Given the description of an element on the screen output the (x, y) to click on. 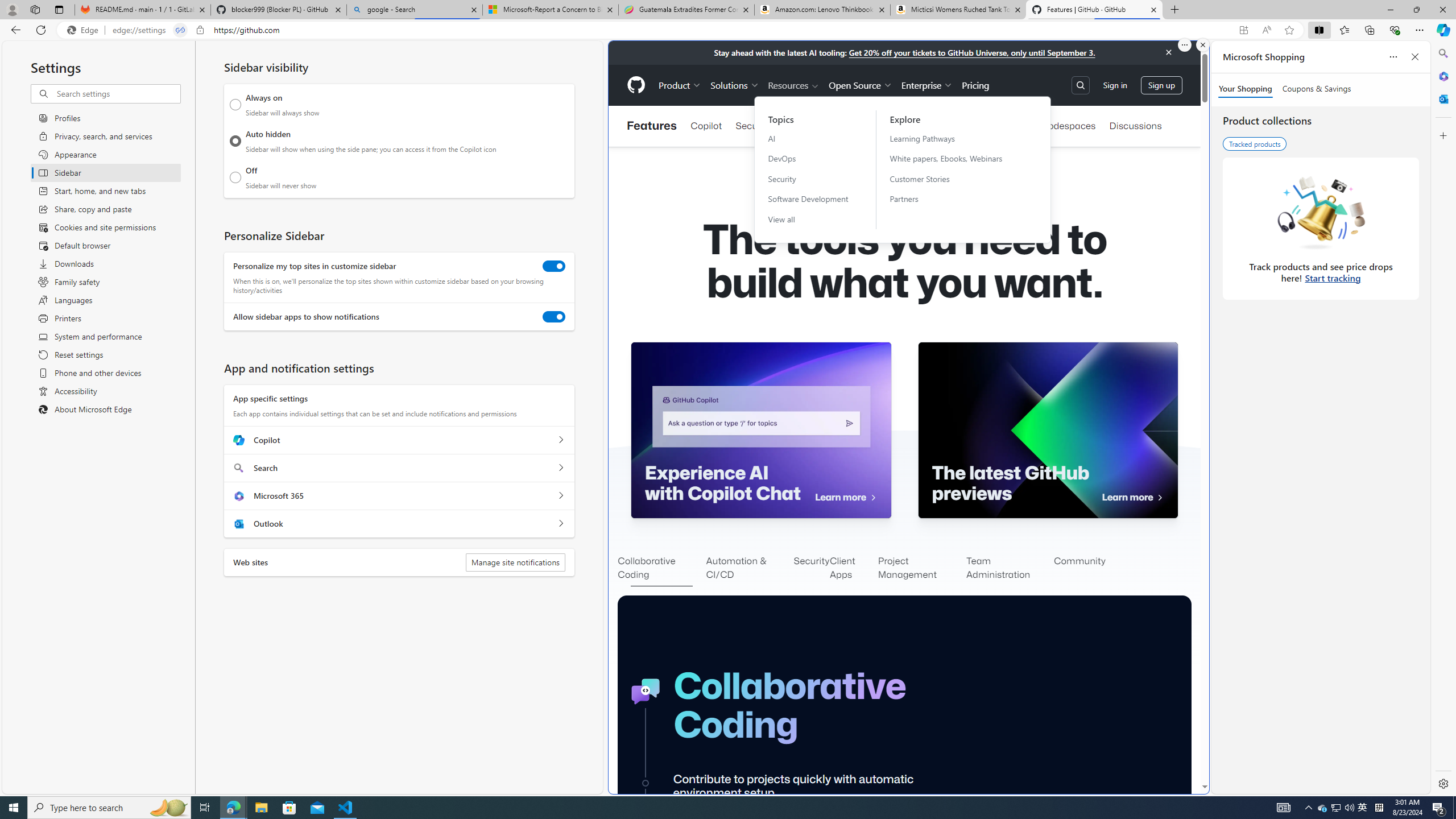
White papers, Ebooks, Webinars (952, 158)
DevOps (807, 158)
Software Development (807, 199)
Copilot (706, 125)
Open Source (860, 84)
Partners (952, 199)
Packages (1005, 125)
Features (651, 125)
